Given the description of an element on the screen output the (x, y) to click on. 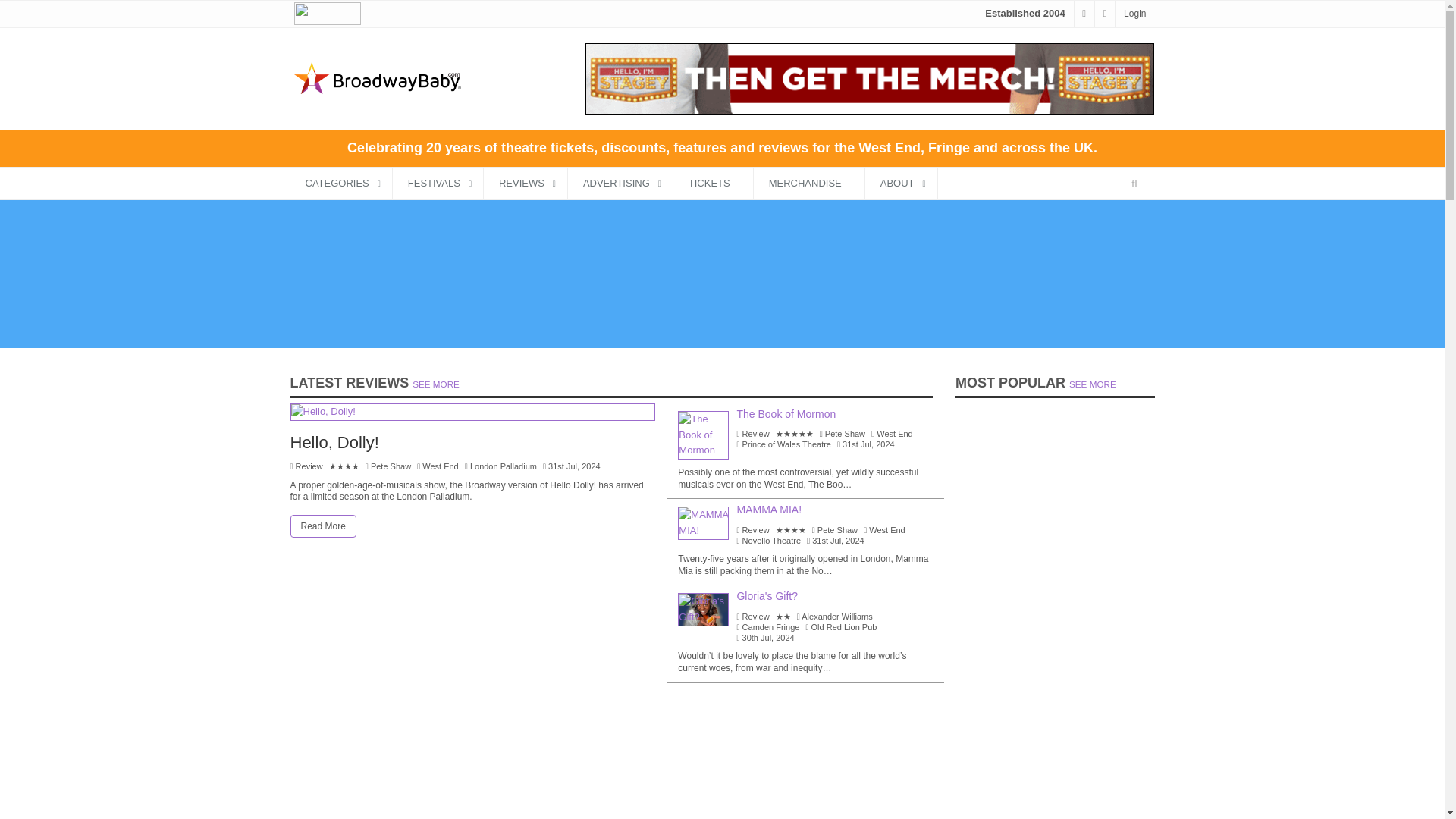
CATEGORIES (340, 183)
Login (1134, 13)
FESTIVALS (438, 183)
